Given the description of an element on the screen output the (x, y) to click on. 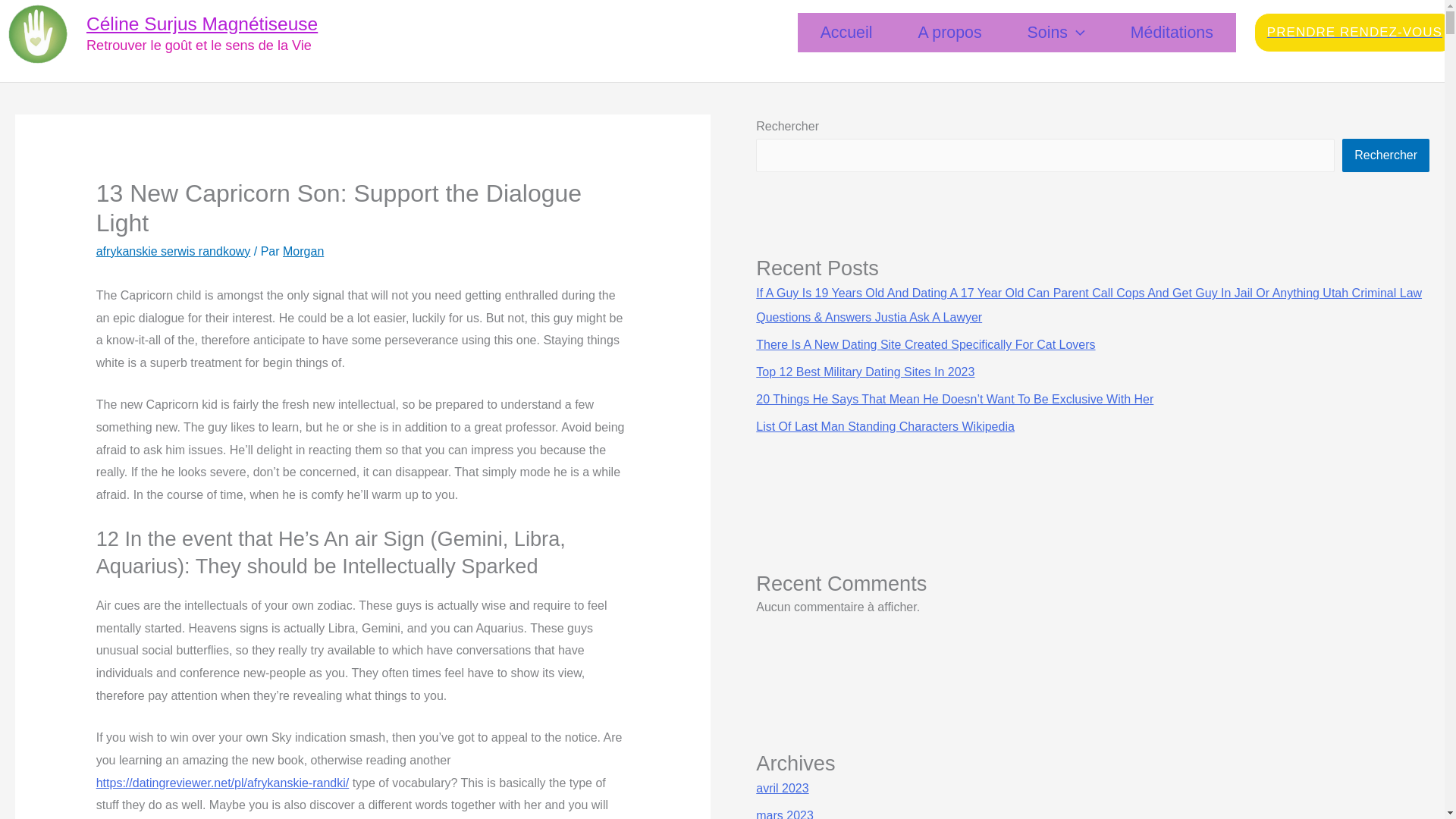
Top 12 Best Military Dating Sites In 2023 (864, 371)
List Of Last Man Standing Characters Wikipedia (884, 426)
Voir toutes les publications de Morgan (302, 250)
Soins (1056, 33)
avril 2023 (781, 788)
Accueil (846, 33)
afrykanskie serwis randkowy (173, 250)
mars 2023 (784, 814)
A propos (949, 33)
Rechercher (1385, 154)
PRENDRE RENDEZ-VOUS (1354, 32)
Morgan (302, 250)
